Given the description of an element on the screen output the (x, y) to click on. 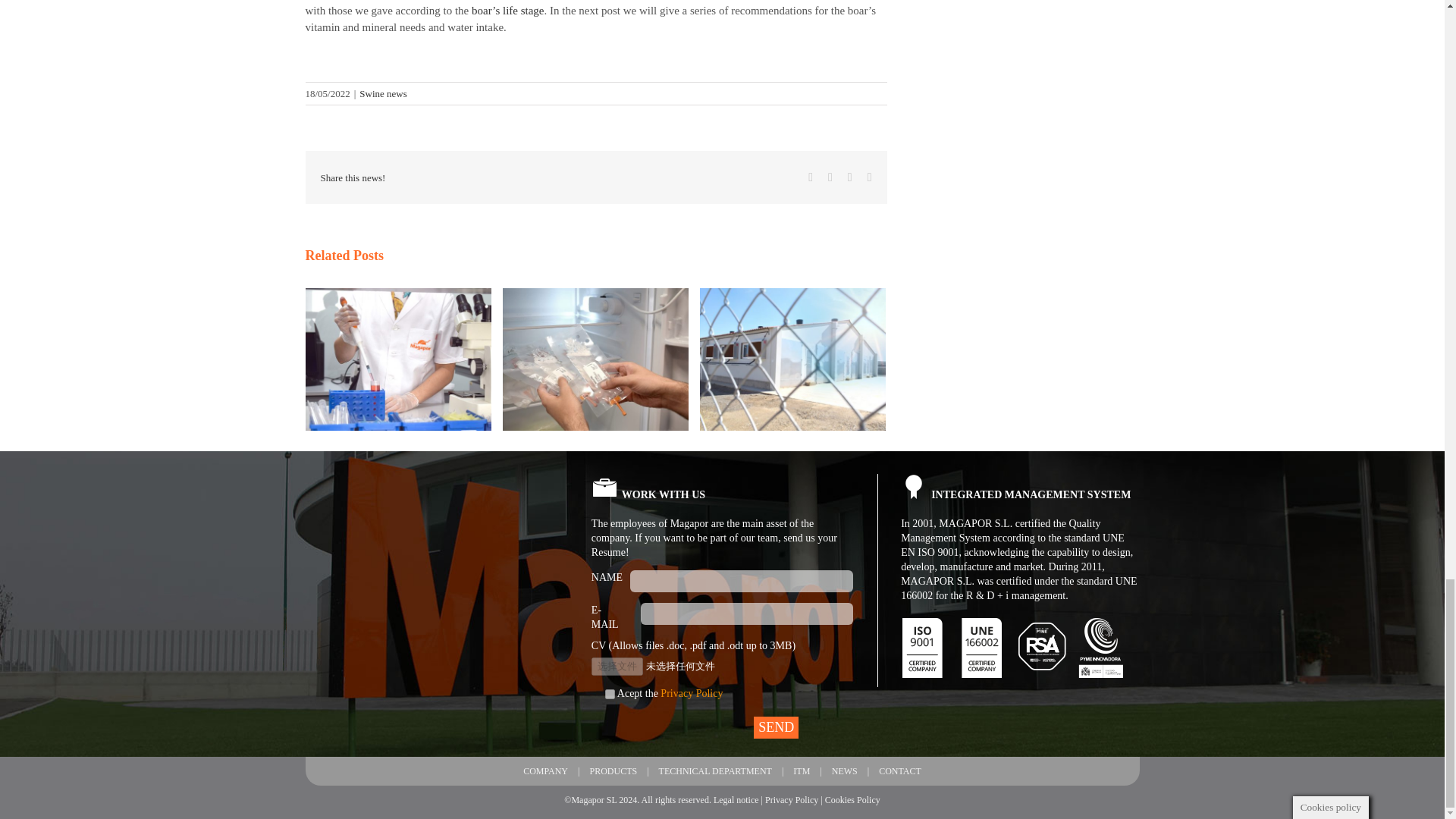
SEND (775, 727)
1 (609, 694)
